Given the description of an element on the screen output the (x, y) to click on. 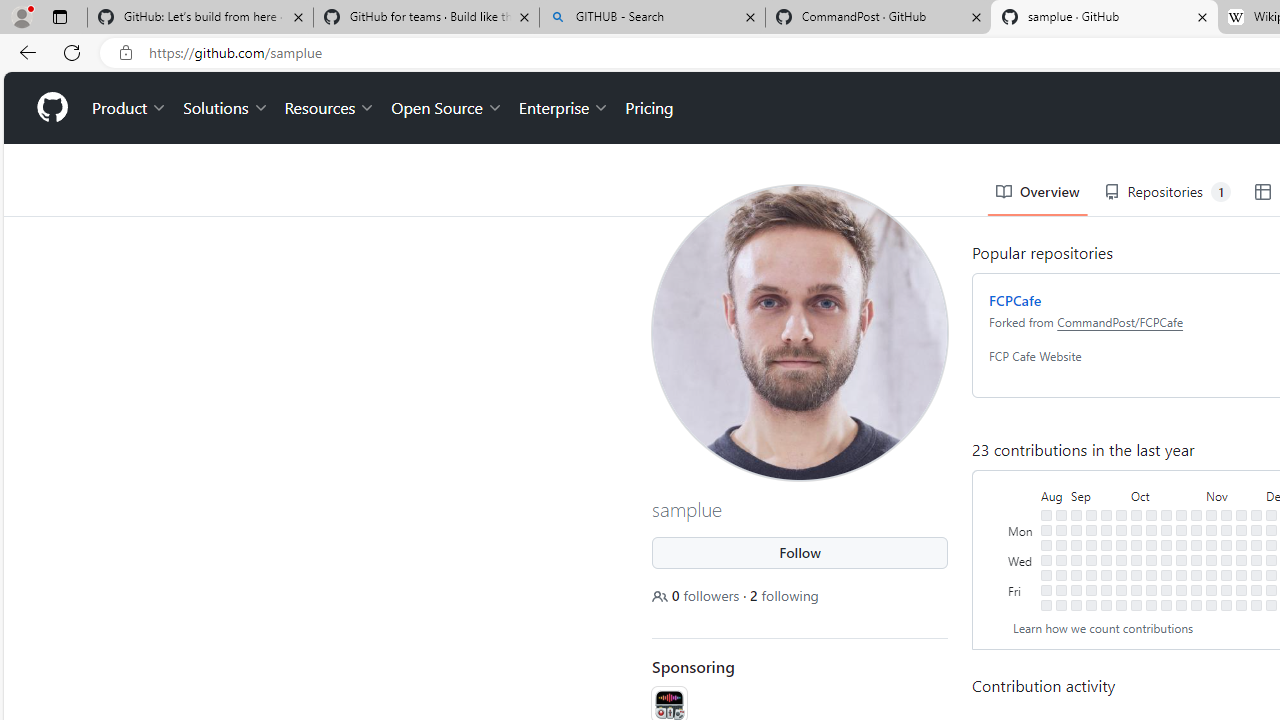
Follow (799, 552)
No contributions on August 23rd. (1046, 559)
No contributions on November 30th. (1256, 574)
No contributions on November 25th. (1241, 605)
No contributions on October 23rd. (1181, 529)
Pricing (649, 107)
No contributions on September 5th. (1076, 544)
No contributions on October 26th. (1181, 574)
No contributions on December 1st. (1256, 589)
Homepage (51, 107)
No contributions on November 17th. (1226, 589)
No contributions on November 10th. (1211, 589)
No contributions on October 6th. (1136, 589)
Product (130, 107)
No contributions on November 11th. (1211, 605)
